Given the description of an element on the screen output the (x, y) to click on. 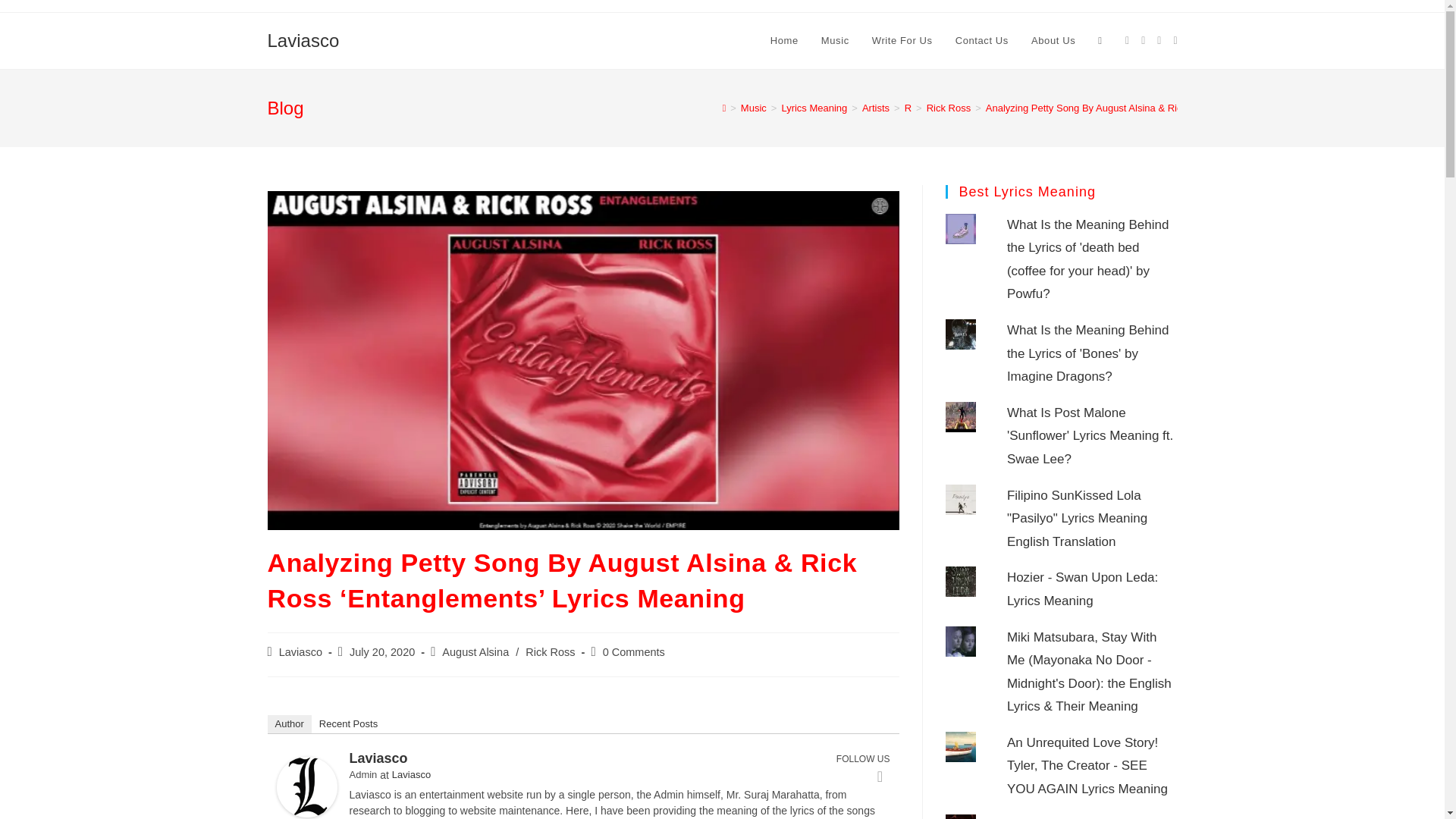
Contact Us (981, 40)
0 Comments (633, 652)
Lyrics Meaning (813, 107)
Author (288, 723)
Rick Ross (550, 652)
Artists (875, 107)
Home (783, 40)
Write For Us (901, 40)
Music (754, 107)
Music (834, 40)
Recent Posts (348, 723)
Laviasco (300, 652)
Rick Ross (948, 107)
Twitter (879, 776)
